Given the description of an element on the screen output the (x, y) to click on. 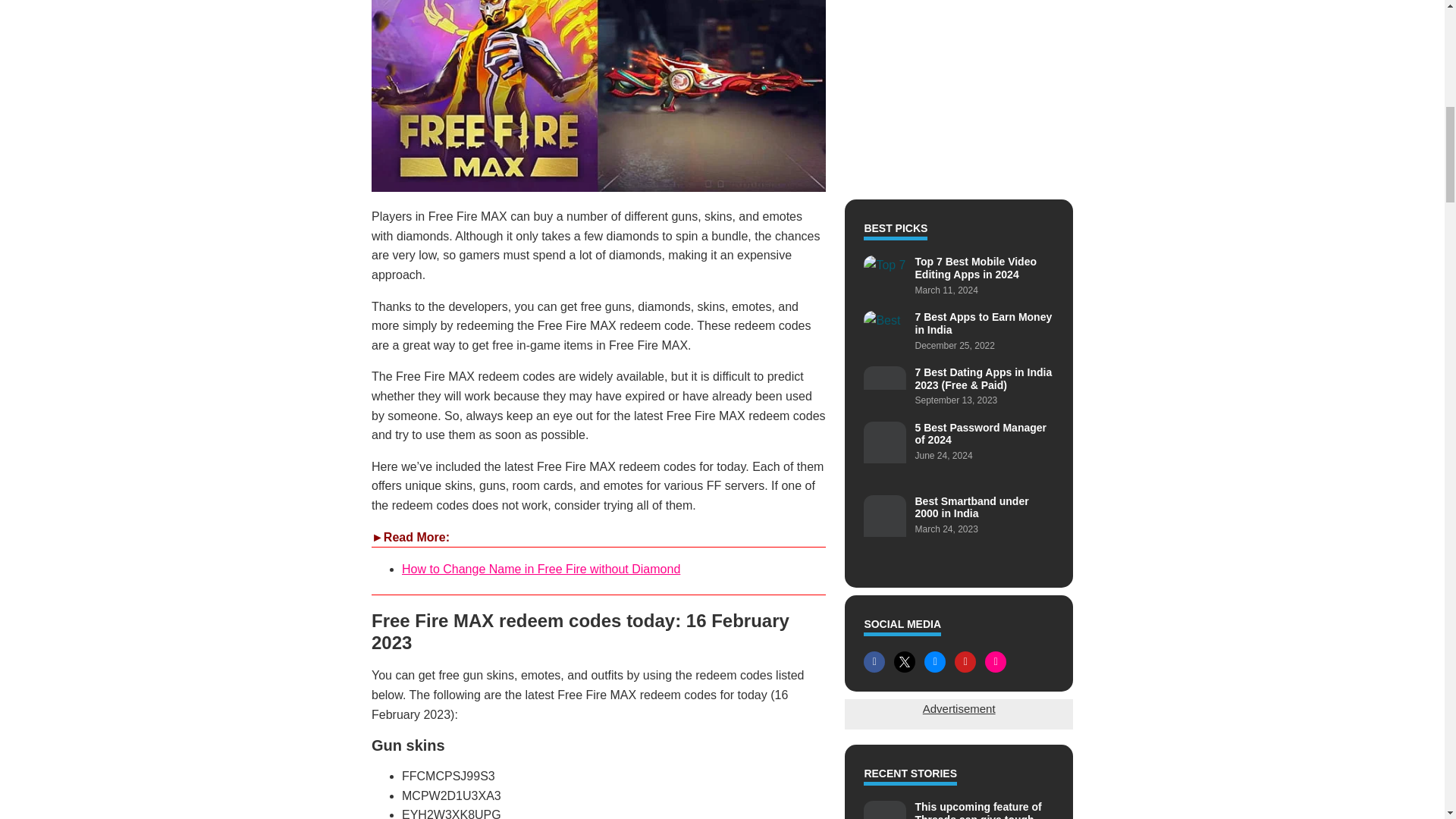
How to Change Name in Free Fire without Diamond (540, 568)
